Given the description of an element on the screen output the (x, y) to click on. 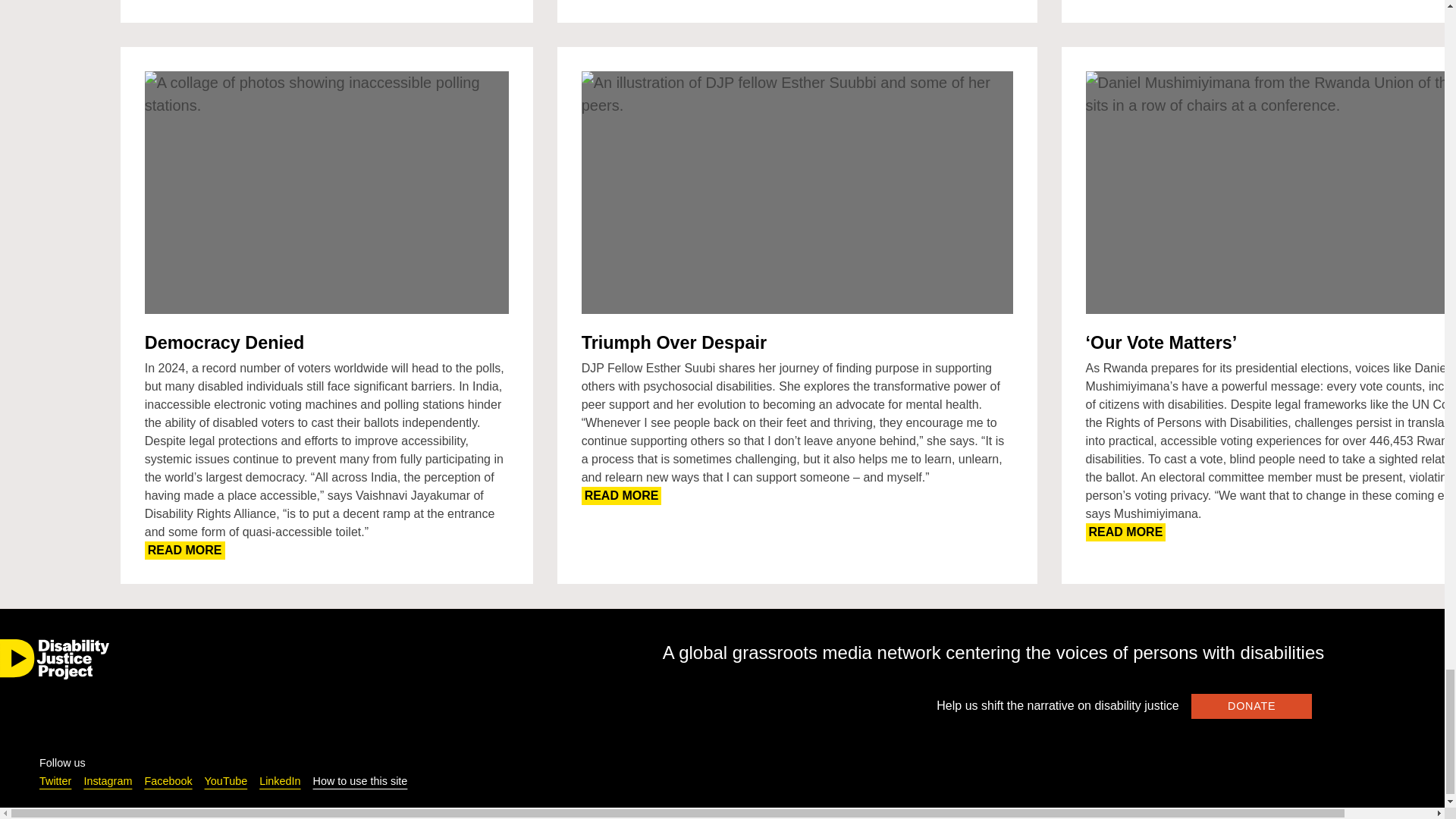
Democracy Denied (224, 342)
Triumph Over Despair (673, 342)
Twitter (55, 780)
DONATE (621, 495)
